Given the description of an element on the screen output the (x, y) to click on. 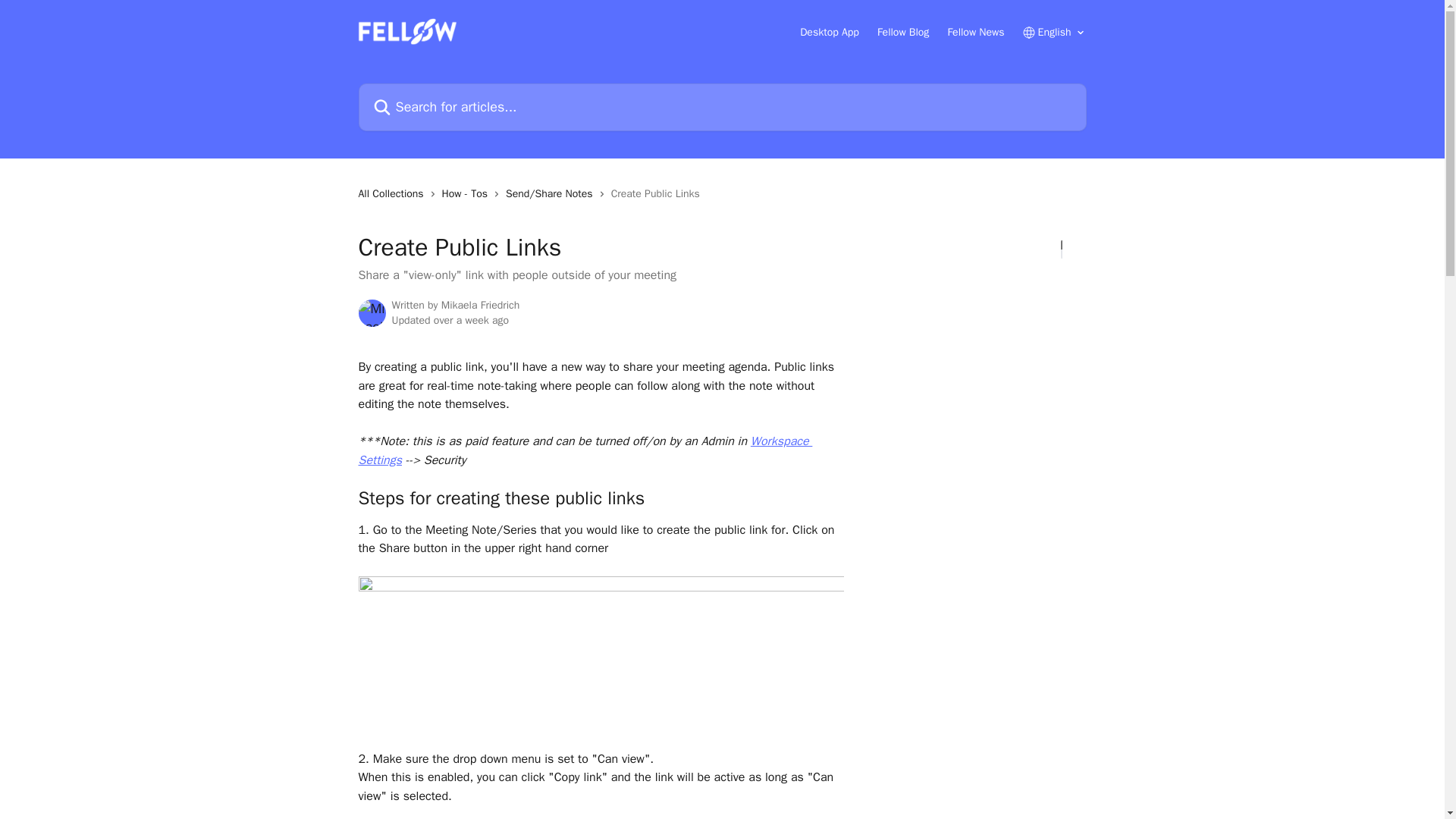
How - Tos (467, 193)
Fellow Blog (903, 32)
Workspace Settings (585, 450)
Desktop App (829, 32)
All Collections (393, 193)
Fellow News (975, 32)
